Given the description of an element on the screen output the (x, y) to click on. 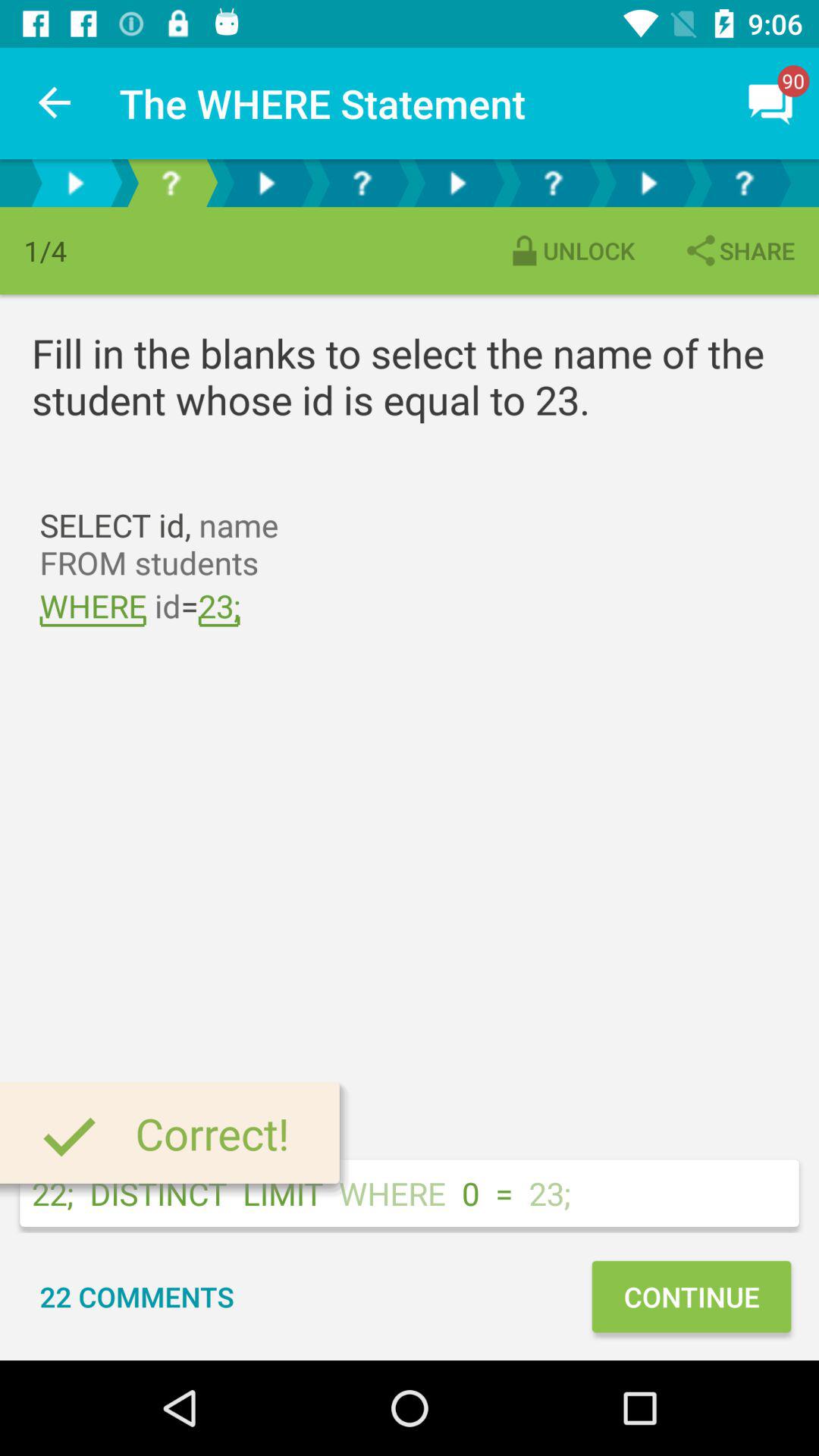
go to next page (648, 183)
